Given the description of an element on the screen output the (x, y) to click on. 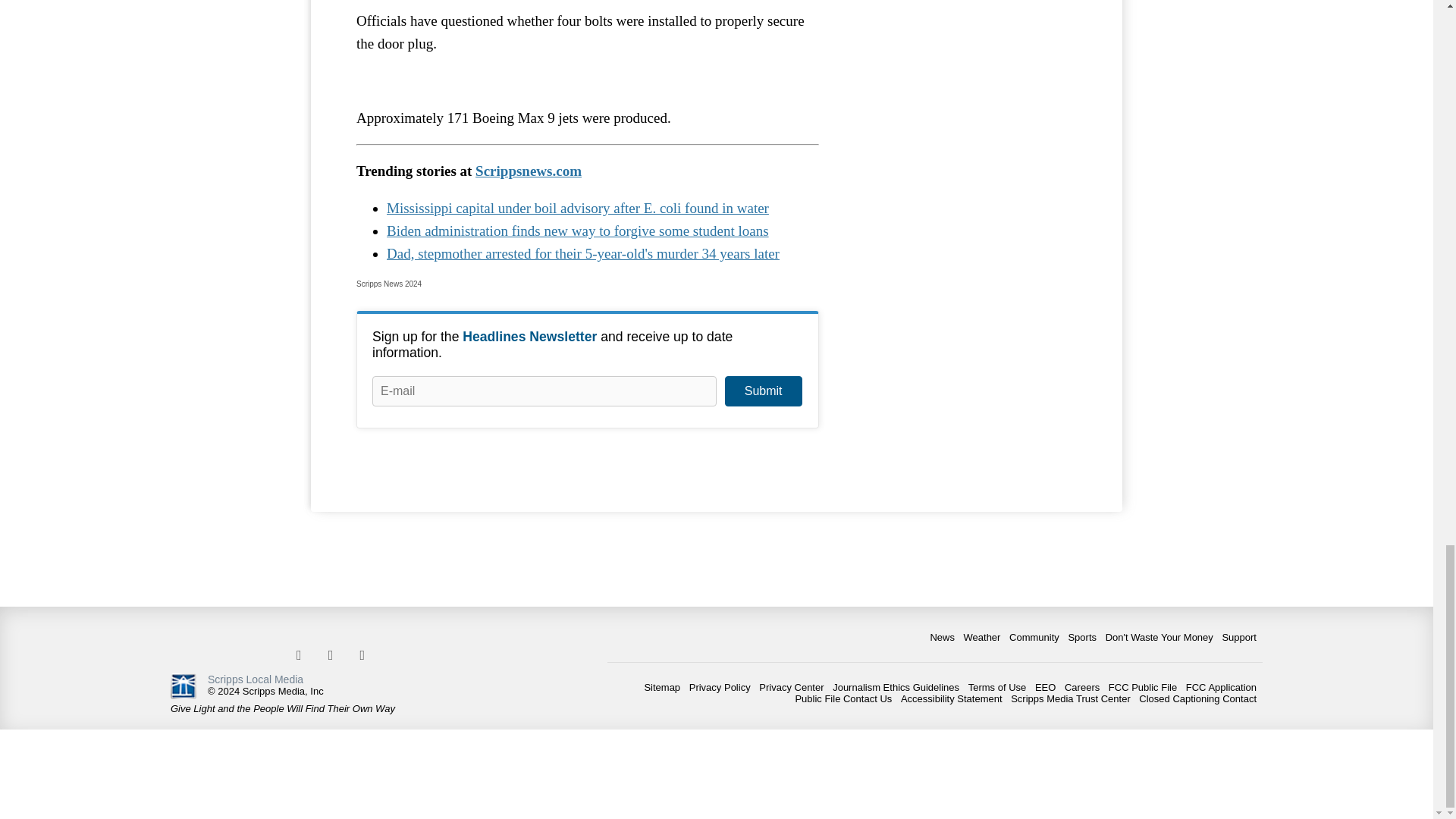
Submit (763, 390)
